Given the description of an element on the screen output the (x, y) to click on. 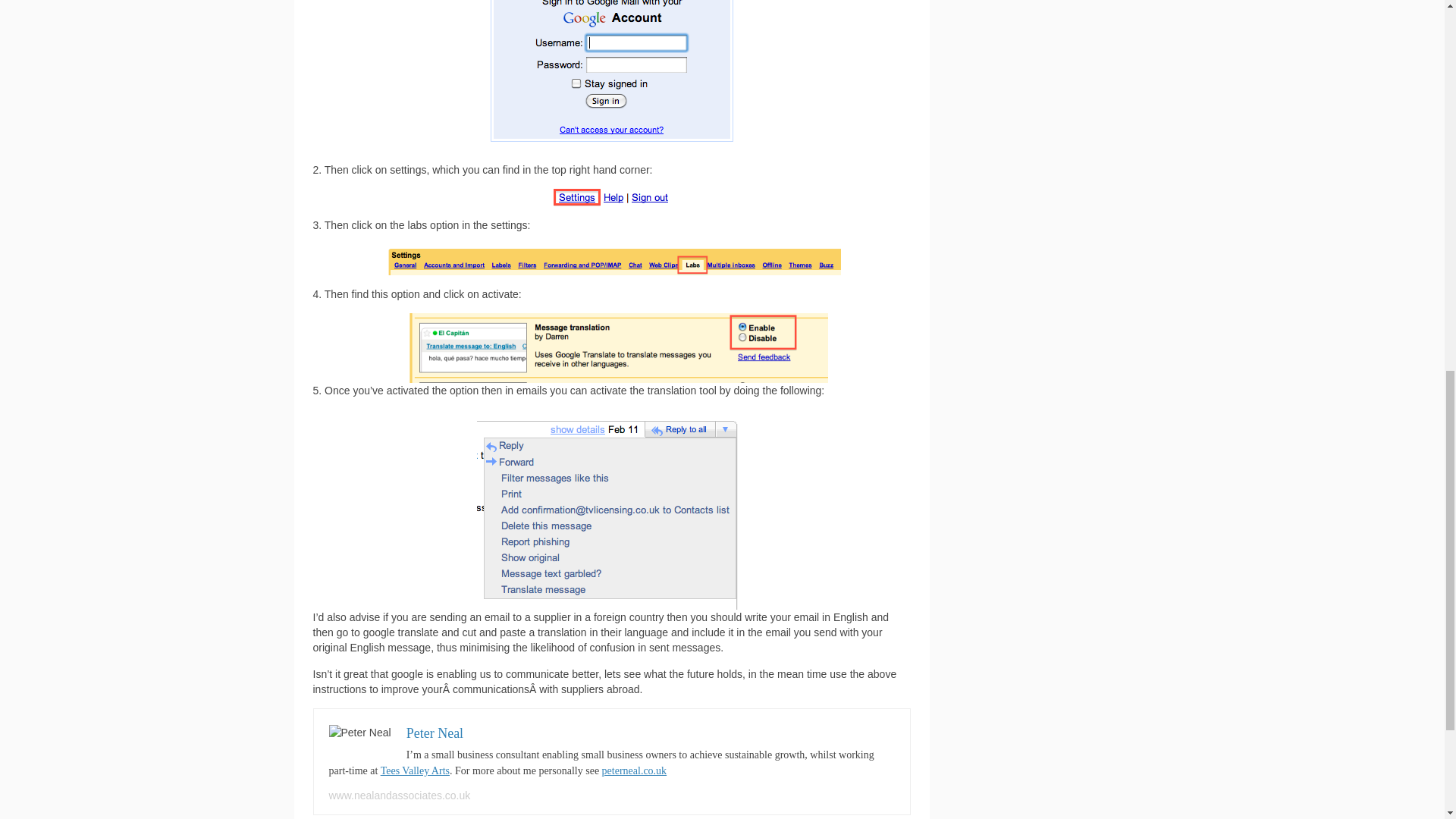
Gmail Settings (612, 197)
Tees Valley Arts (414, 770)
peterneal.co.uk (634, 770)
Gmail Labs (611, 259)
Activate Gmail Translate (611, 509)
Gmail Login (612, 75)
Peter Neal (434, 733)
www.nealandassociates.co.uk (399, 795)
Google Translate in Gmail (612, 347)
